Given the description of an element on the screen output the (x, y) to click on. 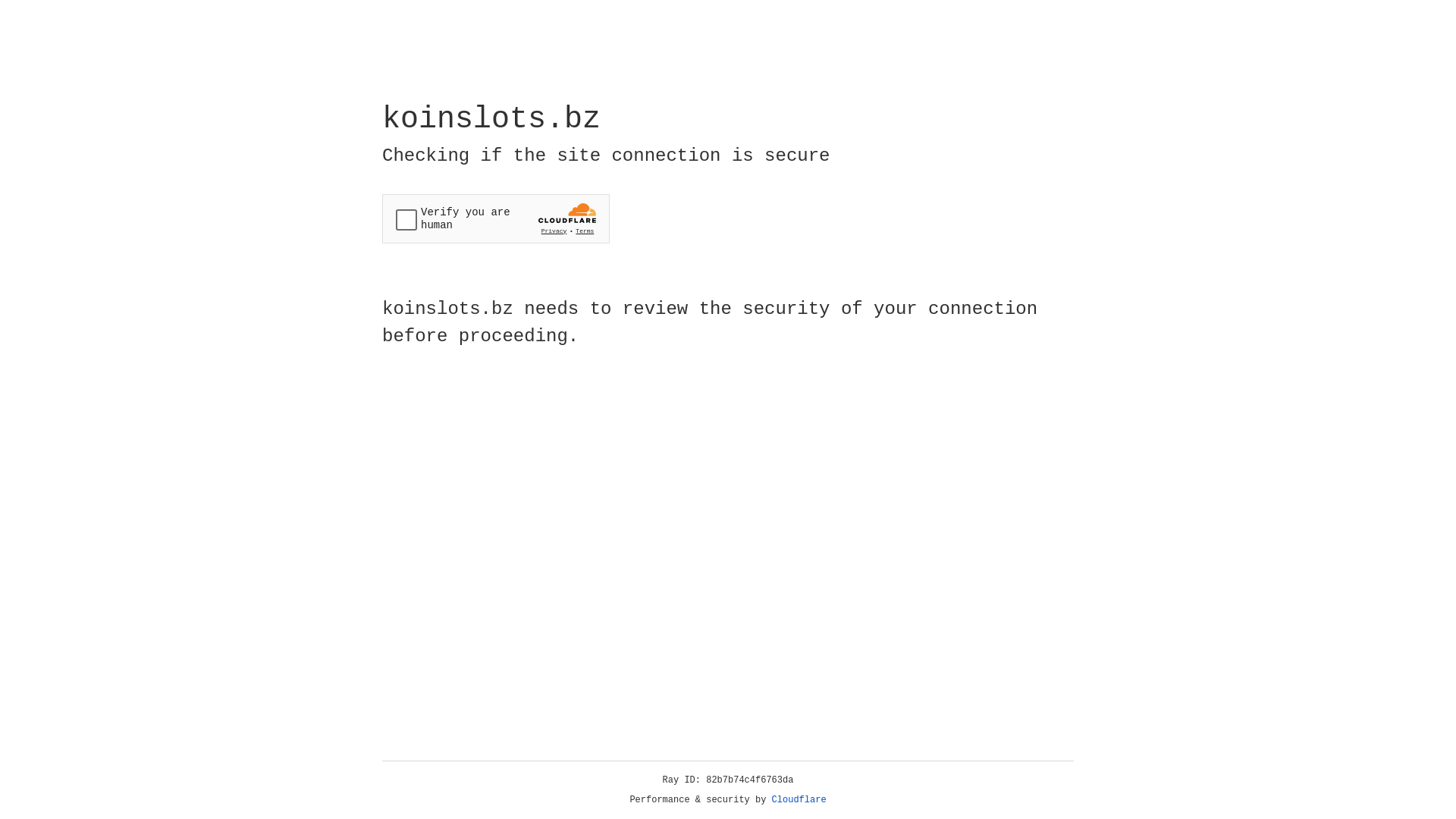
Cloudflare Element type: text (798, 799)
Widget containing a Cloudflare security challenge Element type: hover (495, 218)
